Given the description of an element on the screen output the (x, y) to click on. 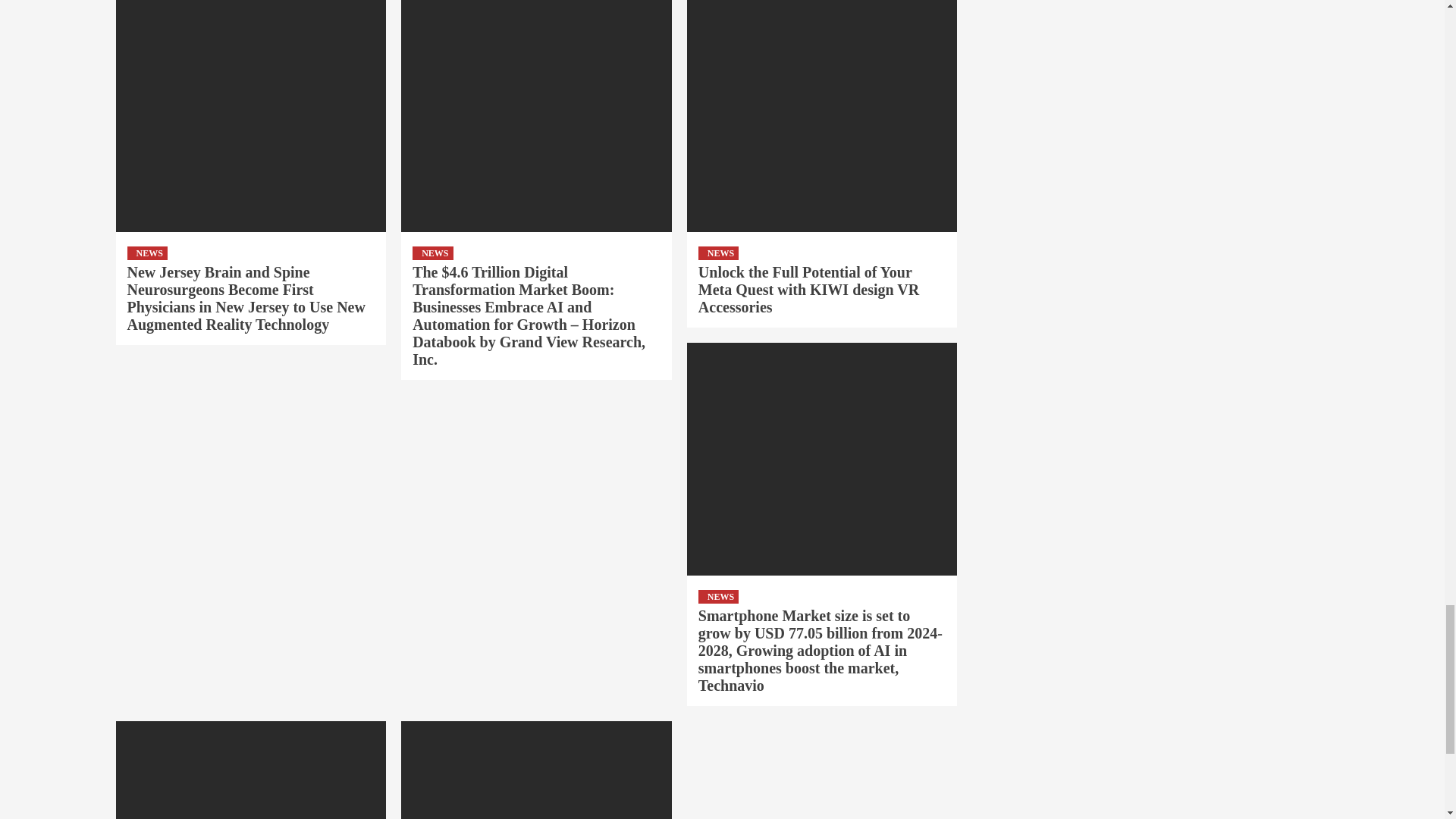
NEWS (432, 253)
NEWS (147, 253)
